Given the description of an element on the screen output the (x, y) to click on. 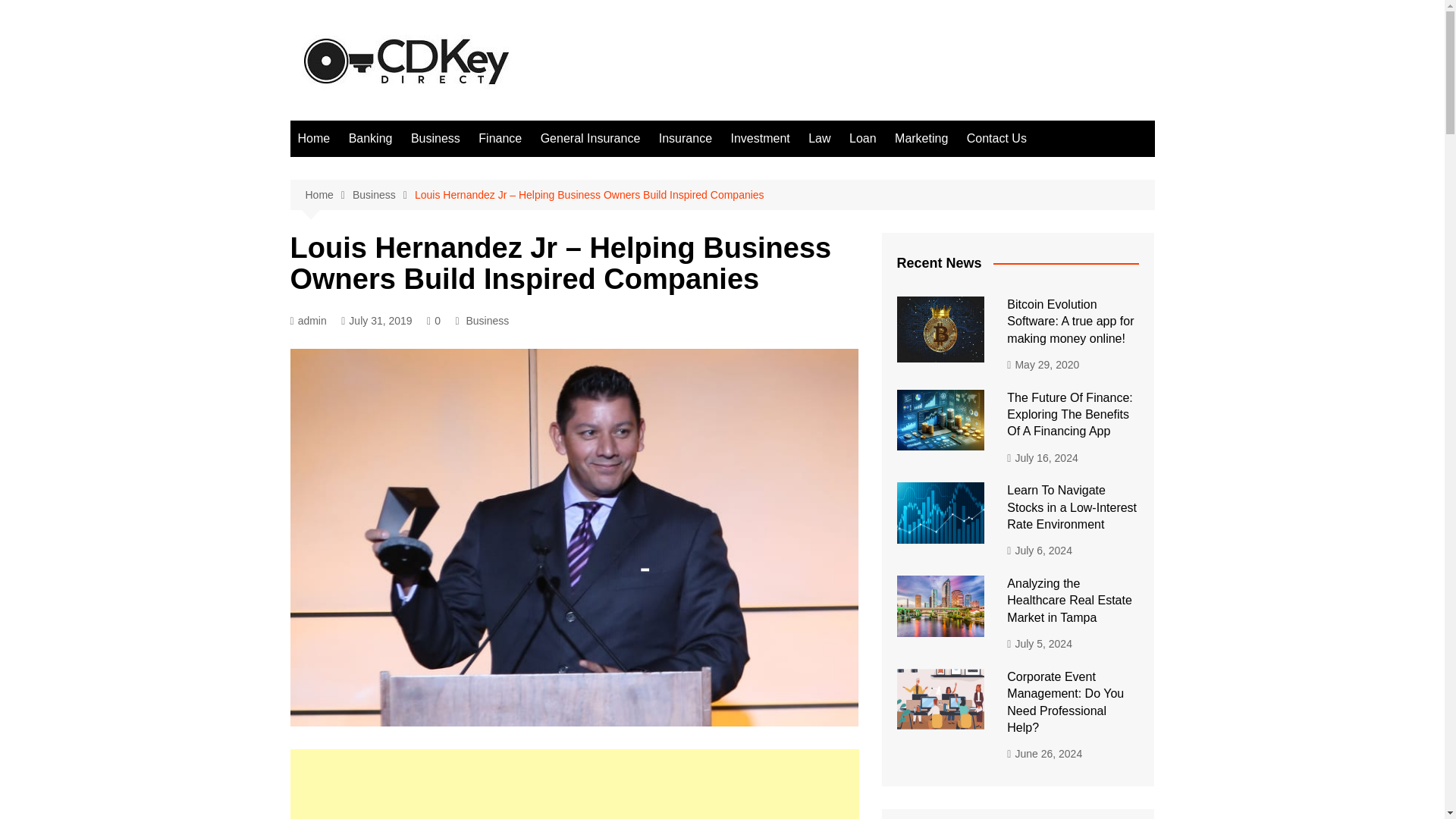
Law (819, 138)
Contact Us (996, 138)
admin (307, 321)
Home (328, 194)
Investment (759, 138)
Business (383, 194)
Business (435, 138)
July 31, 2019 (376, 321)
Business (486, 320)
Marketing (920, 138)
Finance (499, 138)
Home (313, 138)
Banking (370, 138)
General Insurance (589, 138)
Insurance (684, 138)
